Given the description of an element on the screen output the (x, y) to click on. 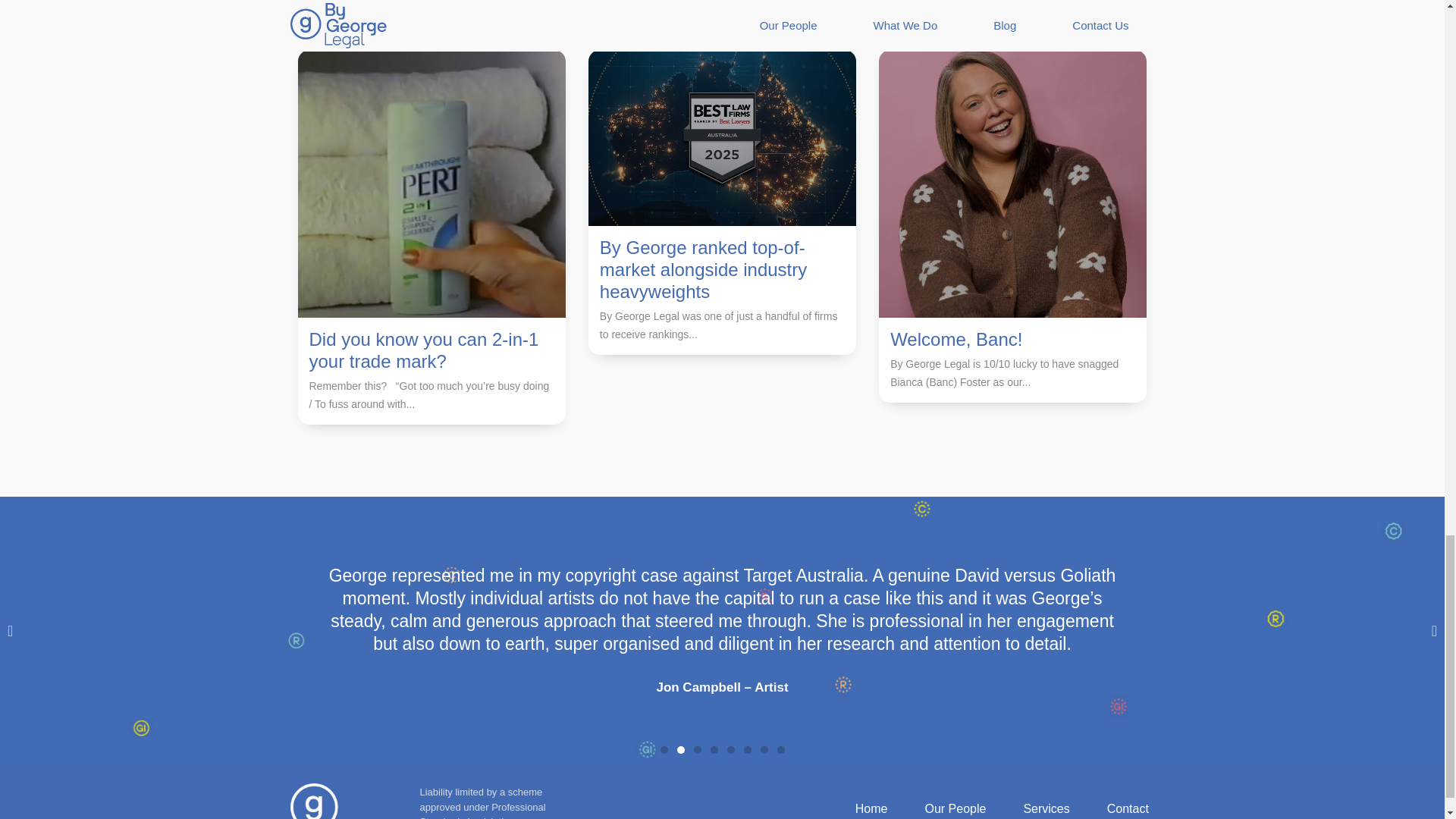
Services (1032, 808)
Home (858, 808)
Contact (1114, 808)
Our People (942, 808)
Welcome, Banc! (955, 339)
Did you know you can 2-in-1 your trade mark? (423, 350)
